Given the description of an element on the screen output the (x, y) to click on. 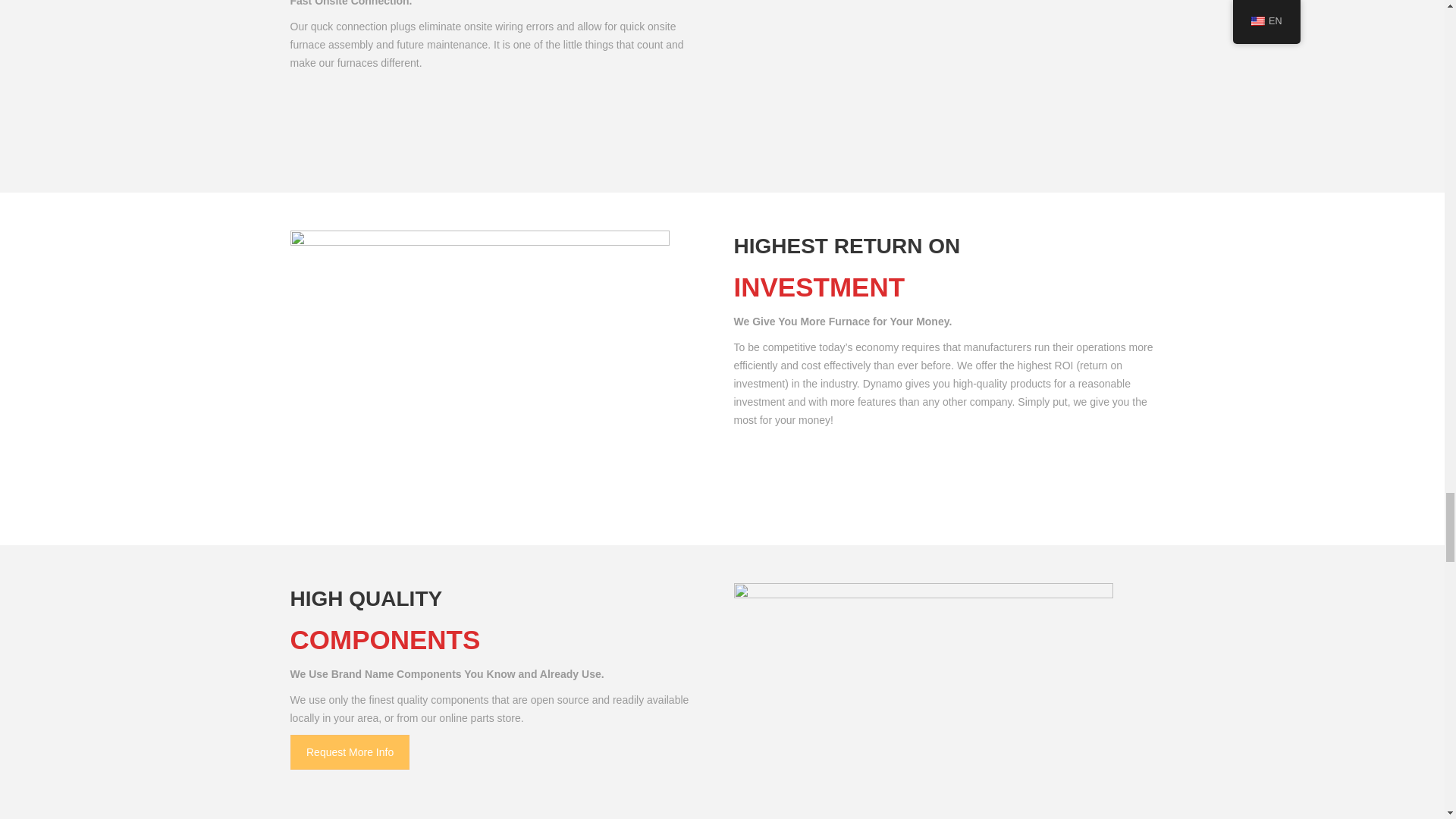
Request More Info (349, 751)
Quick Disconnect LR (923, 77)
